Given the description of an element on the screen output the (x, y) to click on. 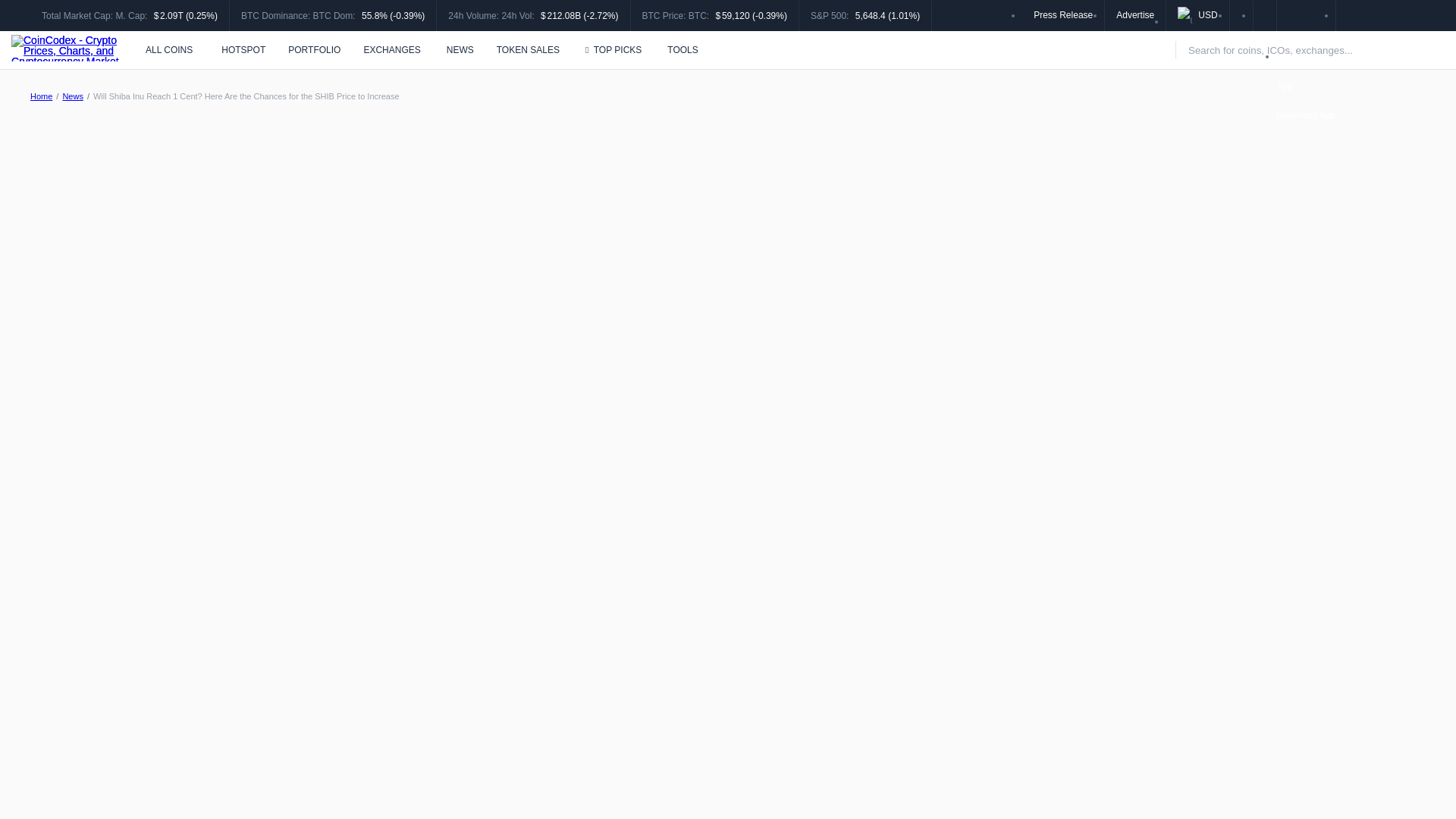
PORTFOLIO (314, 49)
Advertise (1135, 14)
HOTSPOT (241, 49)
Press Release (1063, 14)
News (72, 95)
NEWS (459, 49)
Home (41, 95)
